Given the description of an element on the screen output the (x, y) to click on. 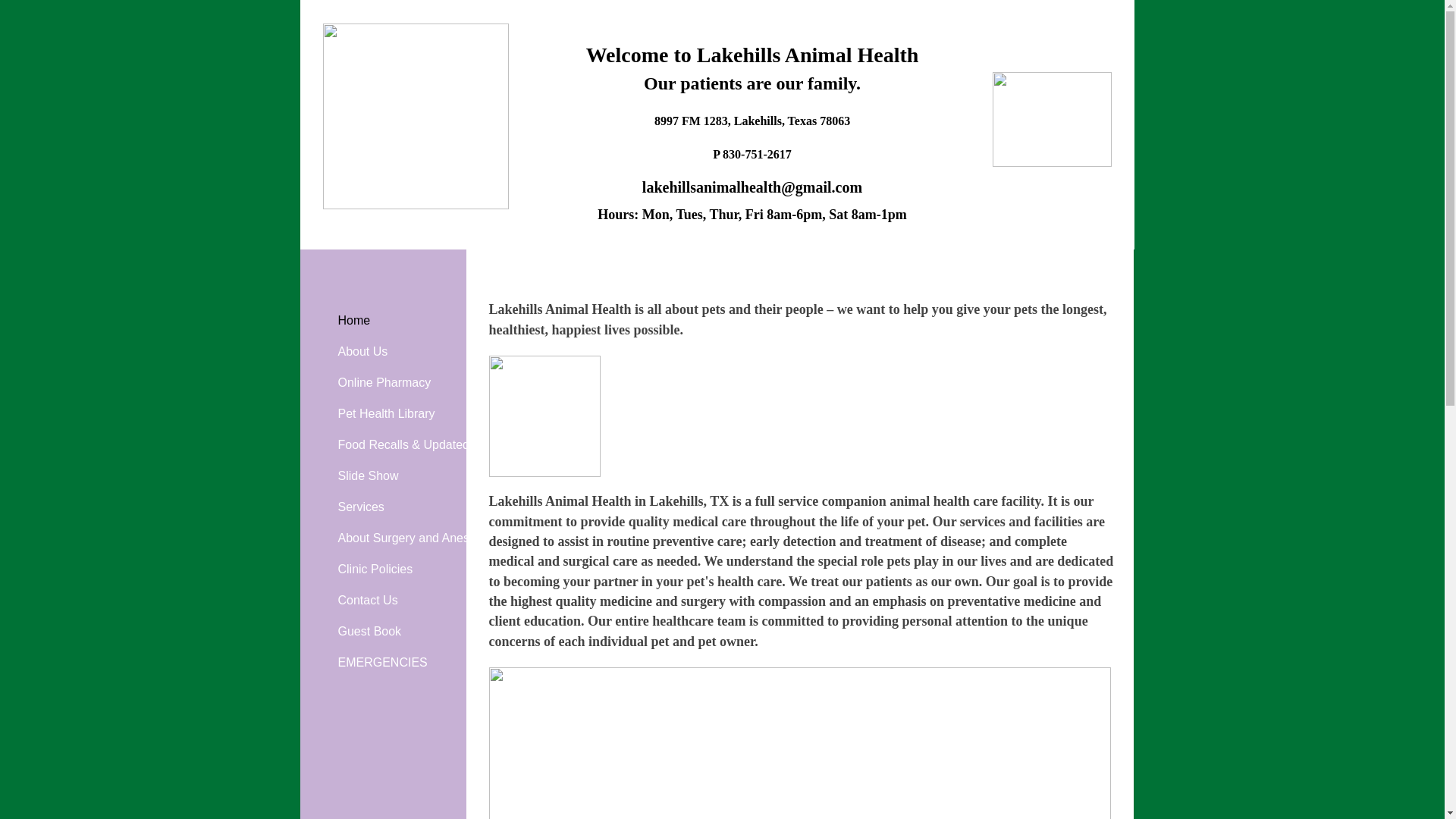
Online Pharmacy (384, 382)
About Us (363, 351)
Slide Show (368, 475)
EMERGENCIES (382, 662)
Clinic Policies (375, 569)
Contact Us (368, 600)
Services (360, 507)
About Surgery and Anesthesia (419, 538)
Home (354, 320)
Guest Book (369, 631)
